Given the description of an element on the screen output the (x, y) to click on. 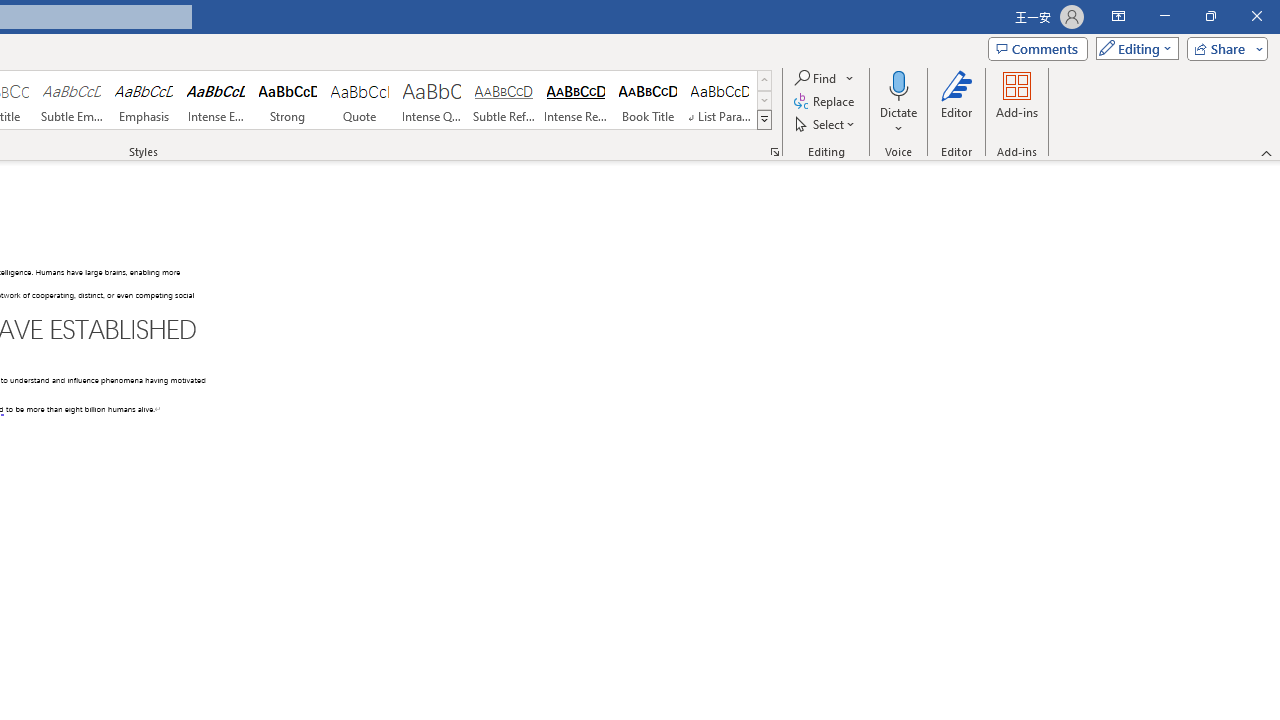
Share (1223, 48)
Quote (359, 100)
Find (824, 78)
Editor (956, 102)
Intense Emphasis (216, 100)
Select (826, 124)
Replace... (826, 101)
Strong (287, 100)
Book Title (647, 100)
Subtle Emphasis (71, 100)
Row up (763, 79)
